Given the description of an element on the screen output the (x, y) to click on. 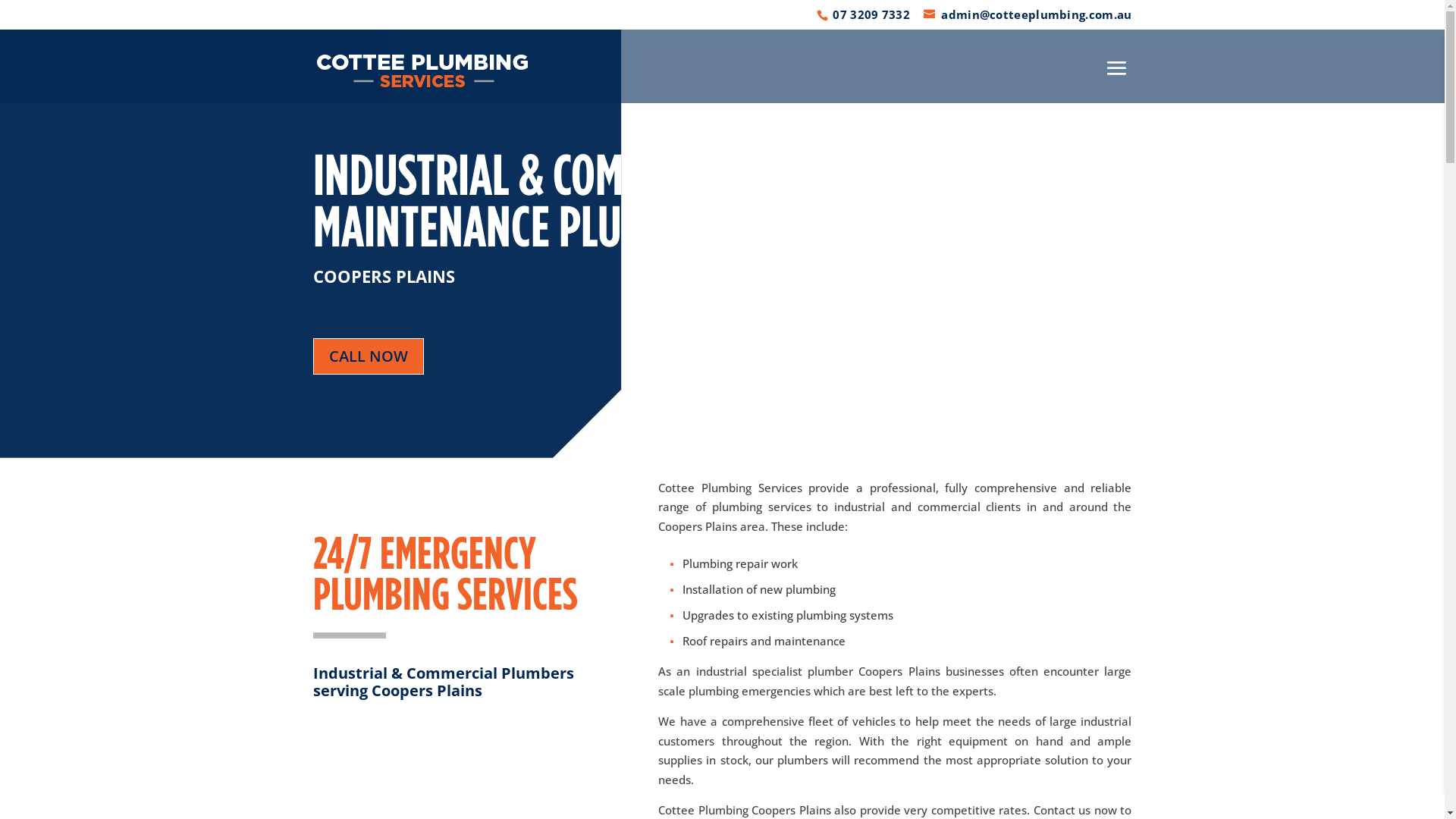
admin@cotteeplumbing.com.au Element type: text (1027, 13)
CALL NOW Element type: text (367, 356)
